Given the description of an element on the screen output the (x, y) to click on. 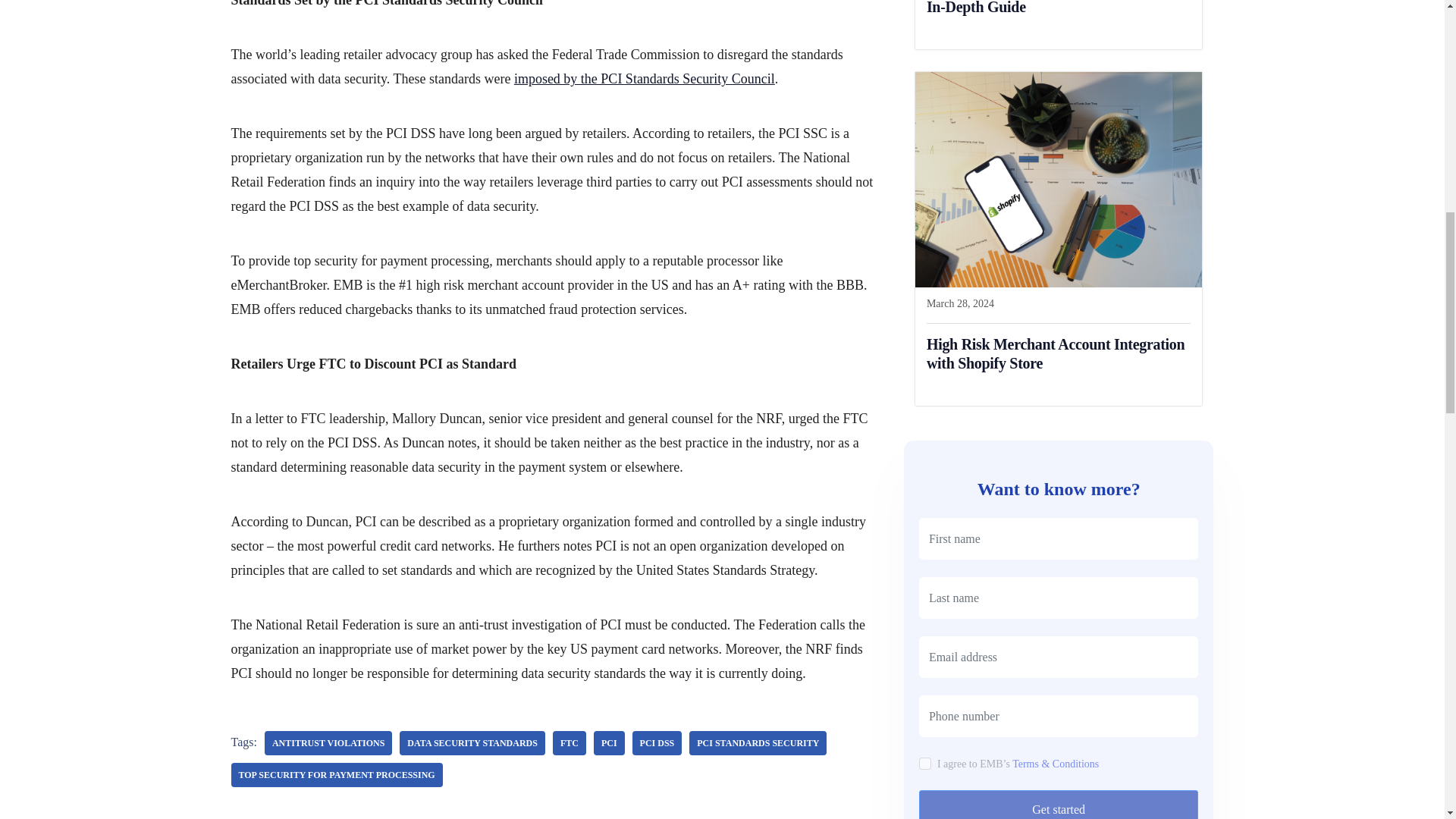
top security for payment processing (336, 774)
Antitrust Violations (327, 743)
PCI Standards Security (757, 743)
data security standards (471, 743)
PCI (609, 743)
FTC (569, 743)
PCI DSS (656, 743)
